Given the description of an element on the screen output the (x, y) to click on. 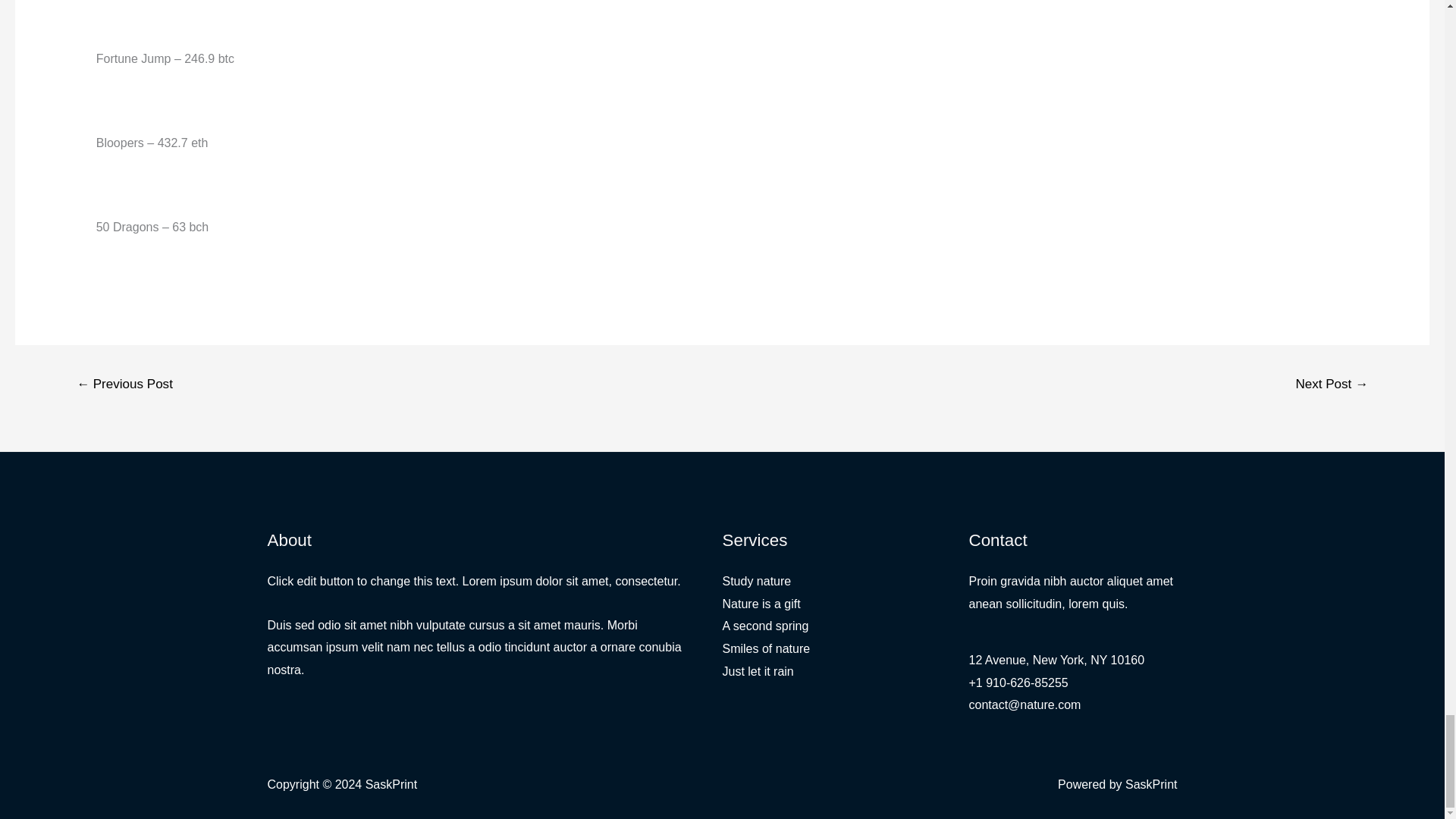
Study nature (756, 581)
A second spring (765, 625)
Nature is a gift (760, 603)
12 Avenue, New York, NY 10160 (1056, 659)
Just let it rain (757, 671)
Smiles of nature (765, 648)
